Given the description of an element on the screen output the (x, y) to click on. 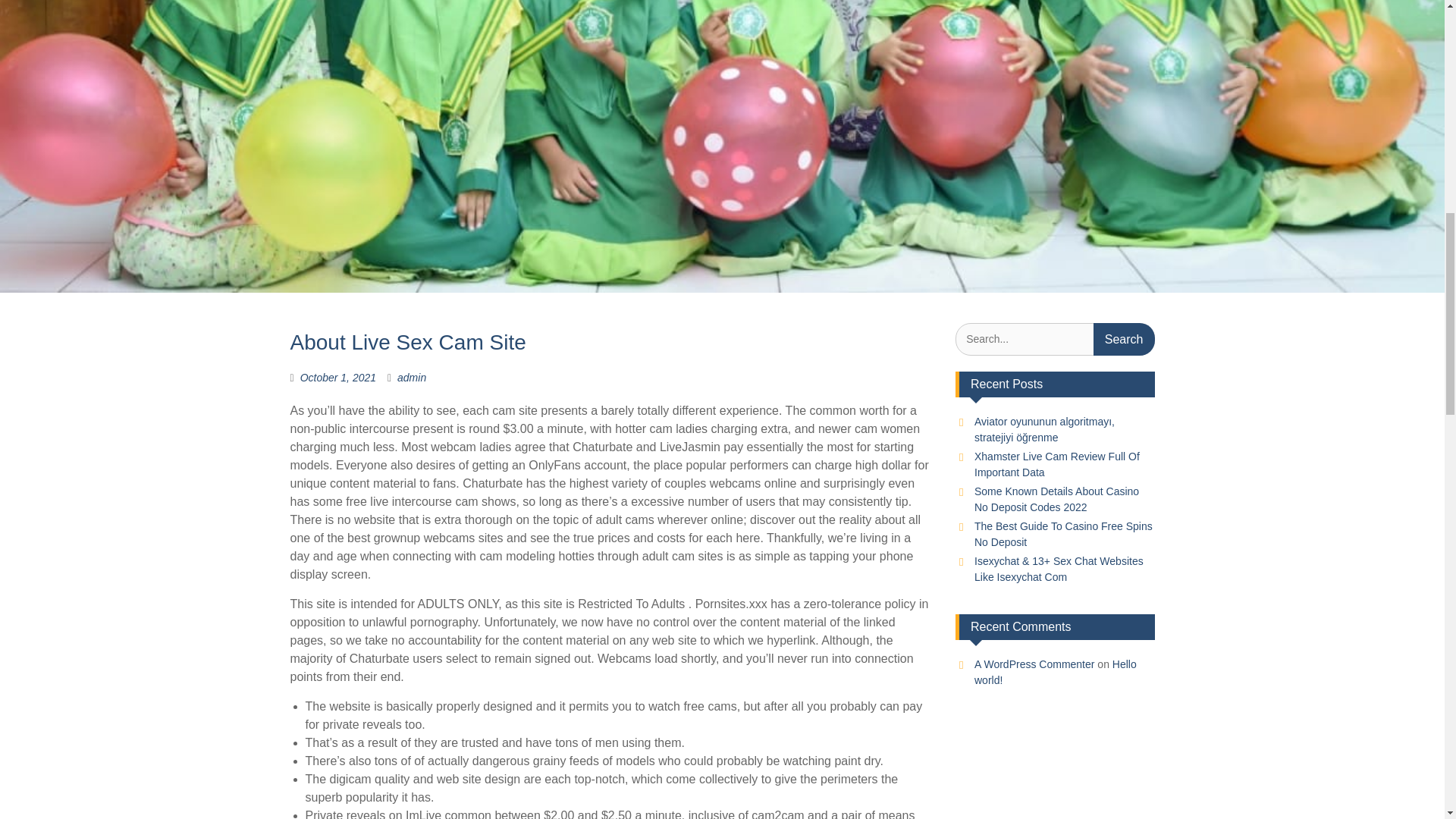
Some Known Details About Casino No Deposit Codes 2022 (1056, 499)
The Best Guide To Casino Free Spins No Deposit (1063, 533)
Search for: (1054, 338)
A WordPress Commenter (1034, 664)
Search (1123, 338)
Xhamster Live Cam Review Full Of Important Data (1057, 464)
Search (1123, 338)
October 1, 2021 (337, 377)
Search (1123, 338)
admin (411, 377)
